Given the description of an element on the screen output the (x, y) to click on. 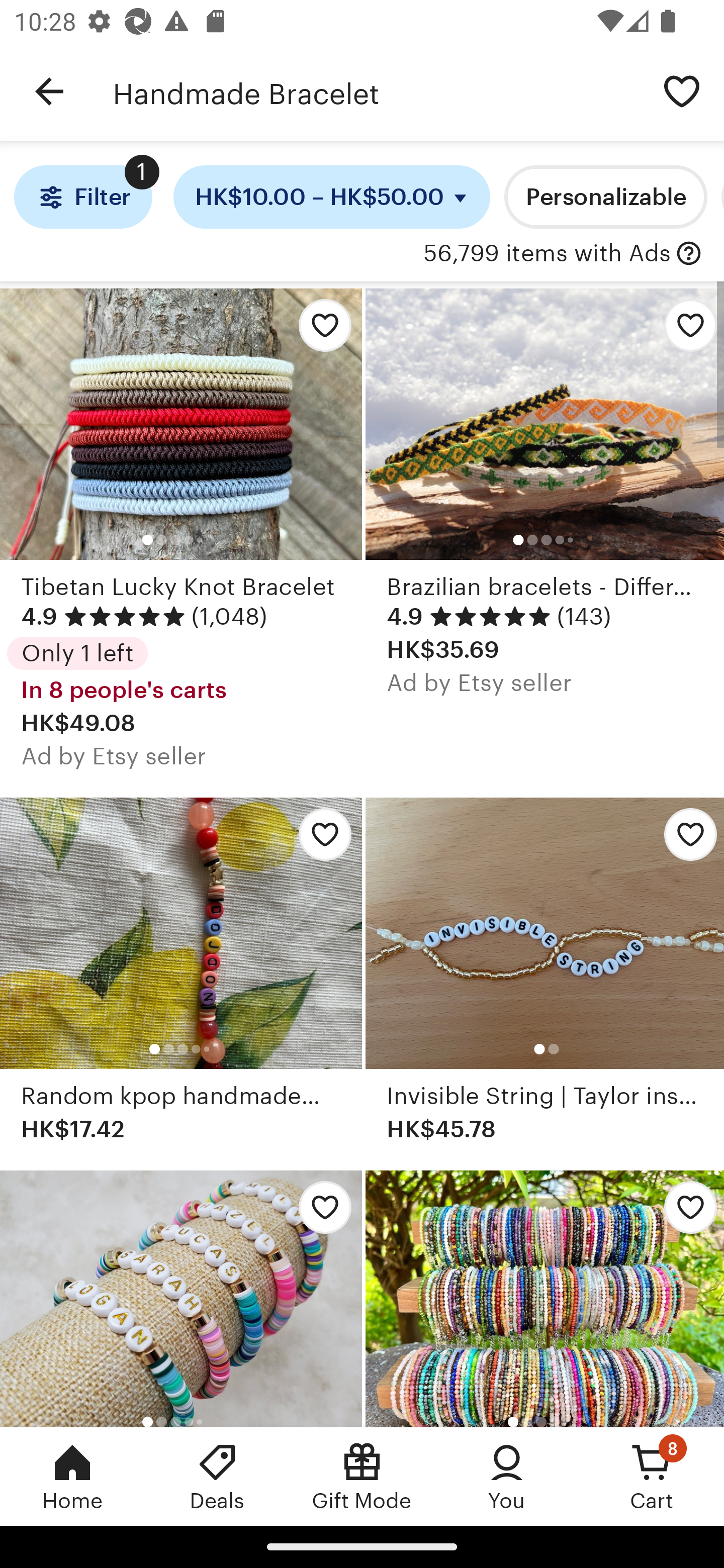
Navigate up (49, 91)
Save search (681, 90)
Handmade Bracelet (375, 91)
Filter (82, 197)
HK$10.00 – HK$50.00 (331, 197)
Personalizable (605, 197)
56,799 items with Ads (547, 253)
with Ads (688, 253)
Add Tibetan Lucky Knot Bracelet to favorites (319, 330)
Add Random kpop handmade bracelet to favorites (319, 839)
Deals (216, 1475)
Gift Mode (361, 1475)
You (506, 1475)
Cart, 8 new notifications Cart (651, 1475)
